Given the description of an element on the screen output the (x, y) to click on. 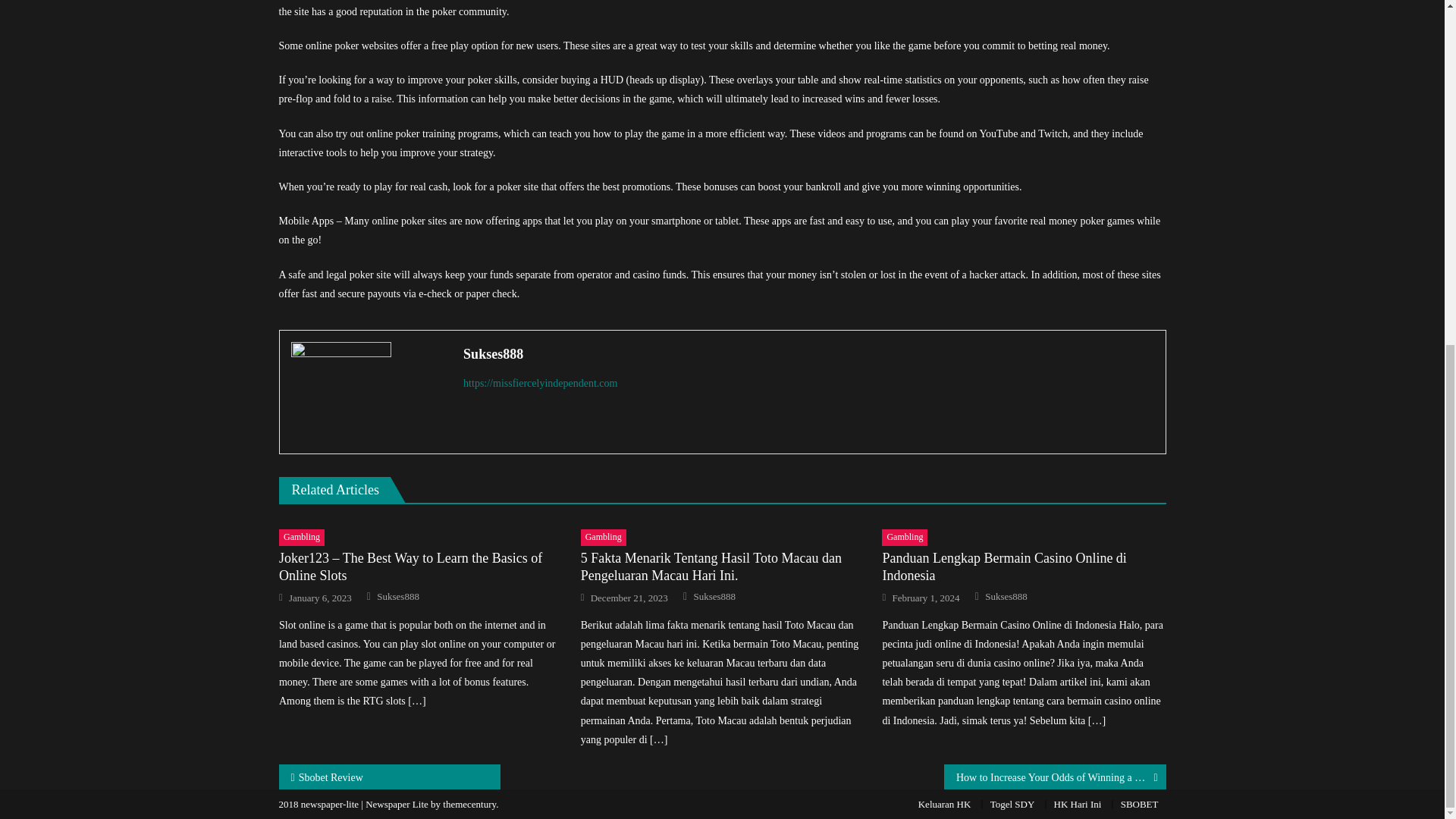
Sbobet Review (389, 776)
Gambling (603, 537)
Keluaran HK (944, 803)
Gambling (904, 537)
Sukses888 (398, 596)
January 6, 2023 (320, 598)
Gambling (301, 537)
themecentury (469, 803)
Panduan Lengkap Bermain Casino Online di Indonesia (1024, 567)
